Given the description of an element on the screen output the (x, y) to click on. 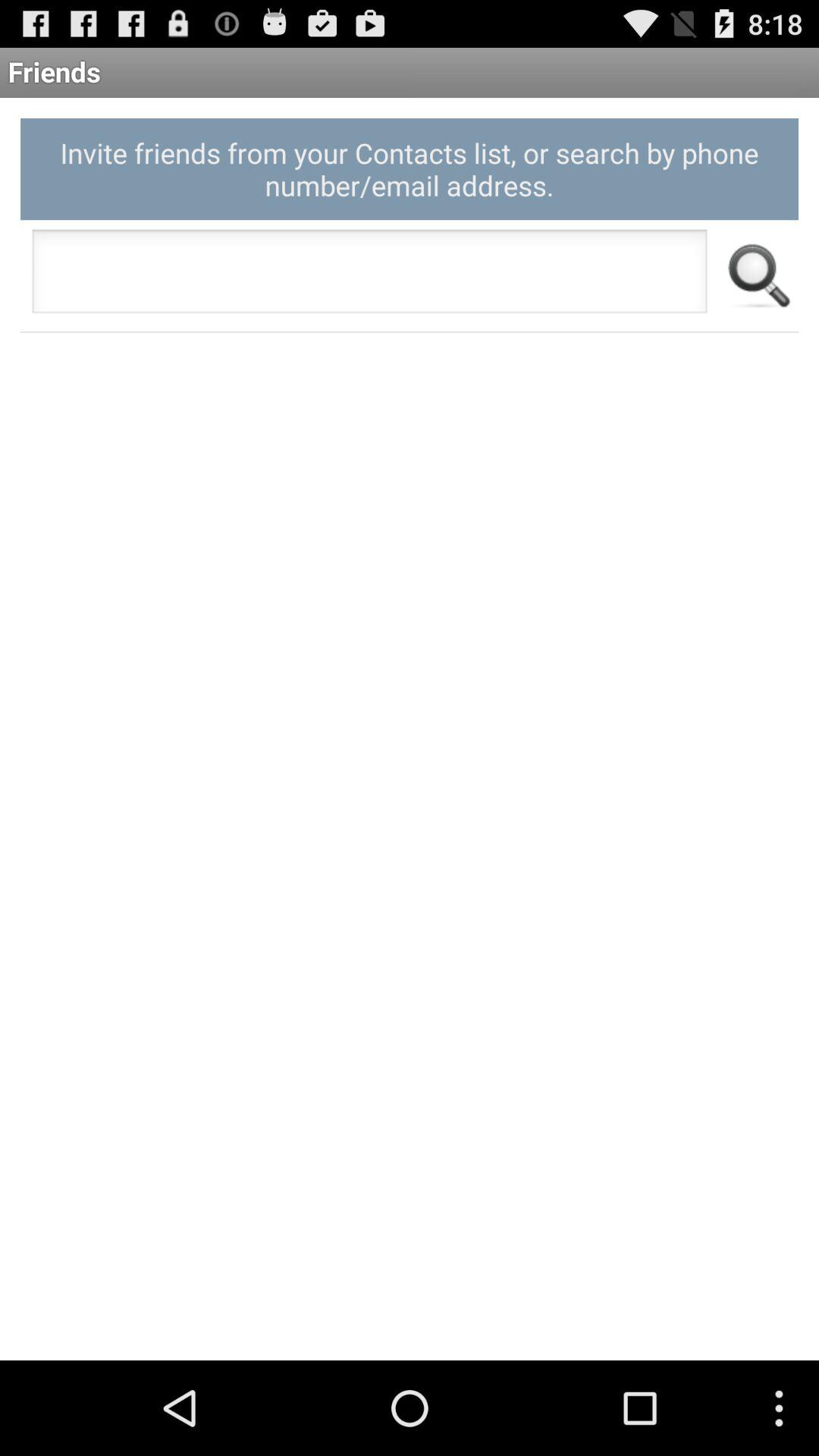
swipe until the invite friends from icon (409, 169)
